Given the description of an element on the screen output the (x, y) to click on. 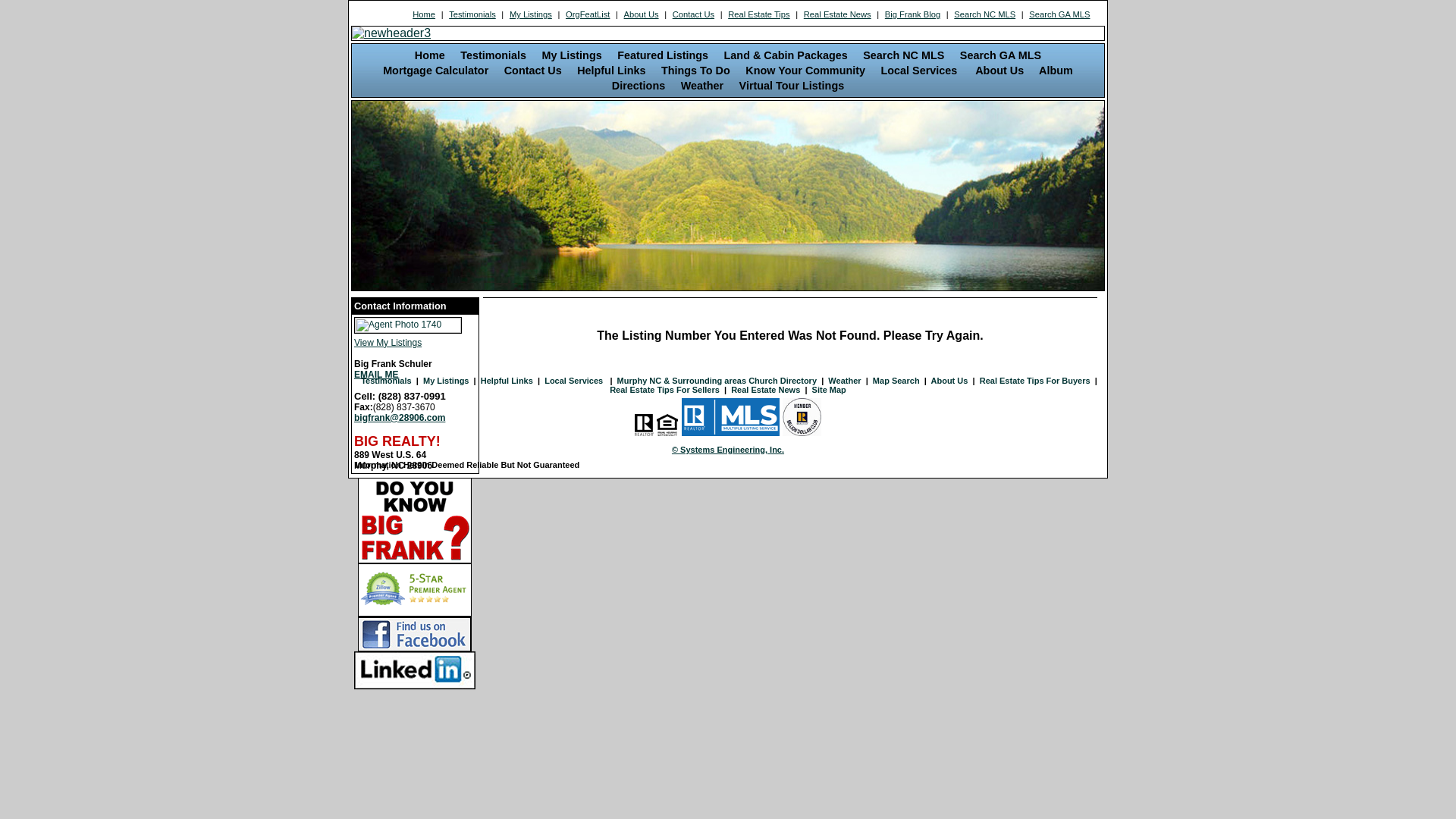
Helpful Links Element type: text (611, 70)
Local Services Element type: text (574, 380)
Site Map Element type: text (829, 389)
Testimonials Element type: text (472, 13)
Real Estate News Element type: text (837, 13)
Search NC MLS Element type: text (984, 13)
My Listings Element type: text (446, 380)
Things To Do Element type: text (695, 70)
Real Estate Tips For Sellers Element type: text (664, 389)
Virtual Tour Listings Element type: text (791, 85)
Testimonials Element type: text (493, 55)
Big Frank Blog Element type: text (912, 13)
EMAIL ME Element type: text (376, 374)
My Listings Element type: text (530, 13)
Album Element type: text (1055, 70)
bigfrank@28906.com Element type: text (399, 417)
My Listings Element type: text (572, 55)
1740 Element type: hover (407, 324)
Real Estate Tips Element type: text (758, 13)
About Us Element type: text (999, 70)
Real Estate News Element type: text (765, 389)
Testimonials Element type: text (385, 380)
View My Listings Element type: text (415, 338)
Search GA MLS Element type: text (1000, 55)
Search GA MLS Element type: text (1059, 13)
Local Services Element type: text (920, 70)
Mortgage Calculator Element type: text (435, 70)
Featured Listings Element type: text (662, 55)
Land & Cabin Packages Element type: text (785, 55)
Real Estate Tips For Buyers Element type: text (1034, 380)
Directions Element type: text (638, 85)
Helpful Links Element type: text (506, 380)
Weather Element type: text (844, 380)
Home Element type: text (423, 13)
About Us Element type: text (949, 380)
Weather Element type: text (702, 85)
OrgFeatList Element type: text (587, 13)
About Us Element type: text (640, 13)
Know Your Community Element type: text (805, 70)
Search NC MLS Element type: text (903, 55)
Home Element type: text (429, 55)
Map Search Element type: text (895, 380)
Contact Us Element type: text (693, 13)
Murphy NC & Surrounding areas Church Directory Element type: text (716, 380)
Contact Us Element type: text (532, 70)
